Given the description of an element on the screen output the (x, y) to click on. 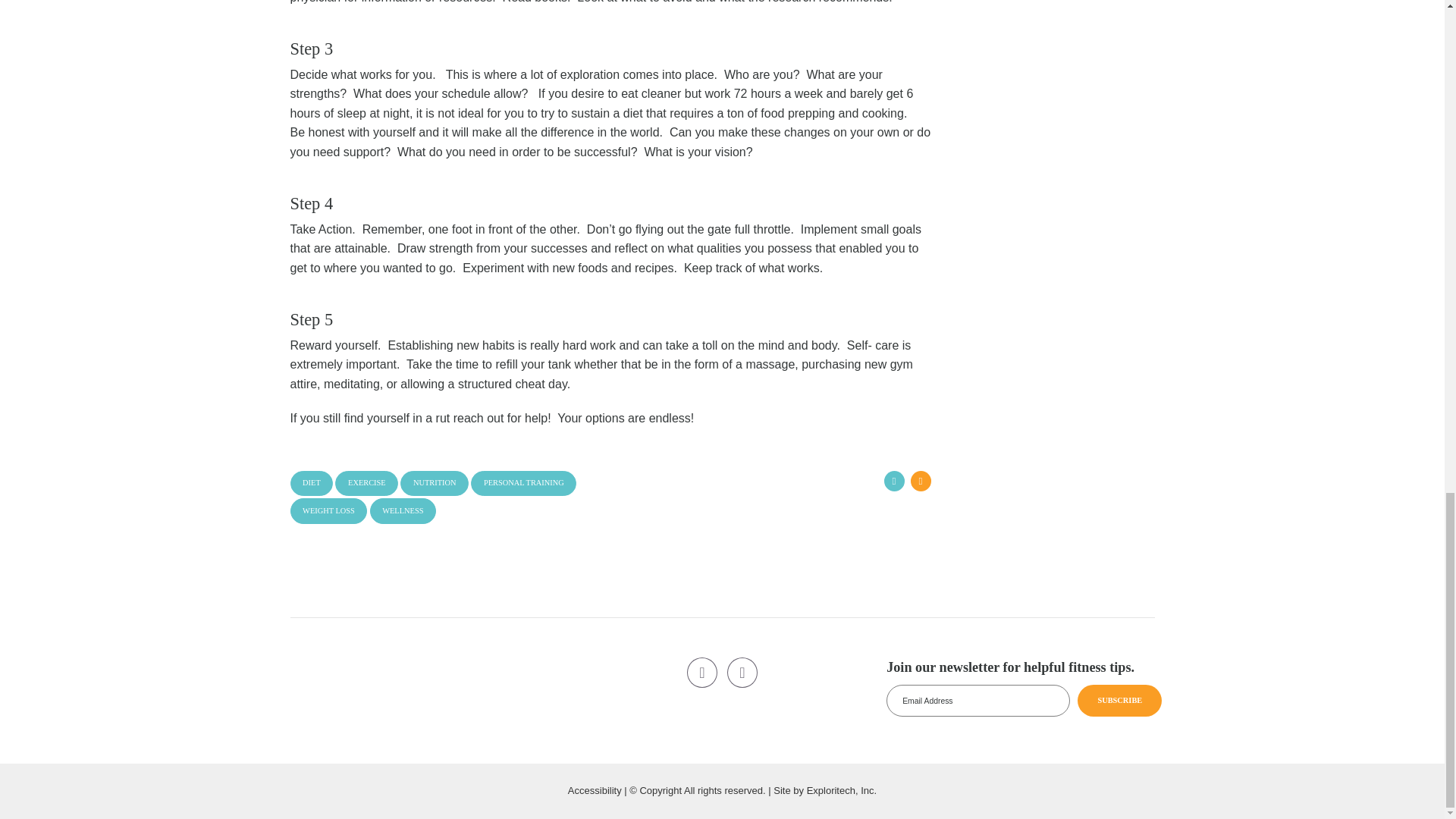
WELLNESS (402, 510)
Accessibility (594, 790)
Subscribe (1119, 700)
WEIGHT LOSS (327, 510)
DIET (311, 483)
PERSONAL TRAINING (523, 483)
NUTRITION (434, 483)
EXERCISE (365, 483)
Subscribe (1119, 700)
